Given the description of an element on the screen output the (x, y) to click on. 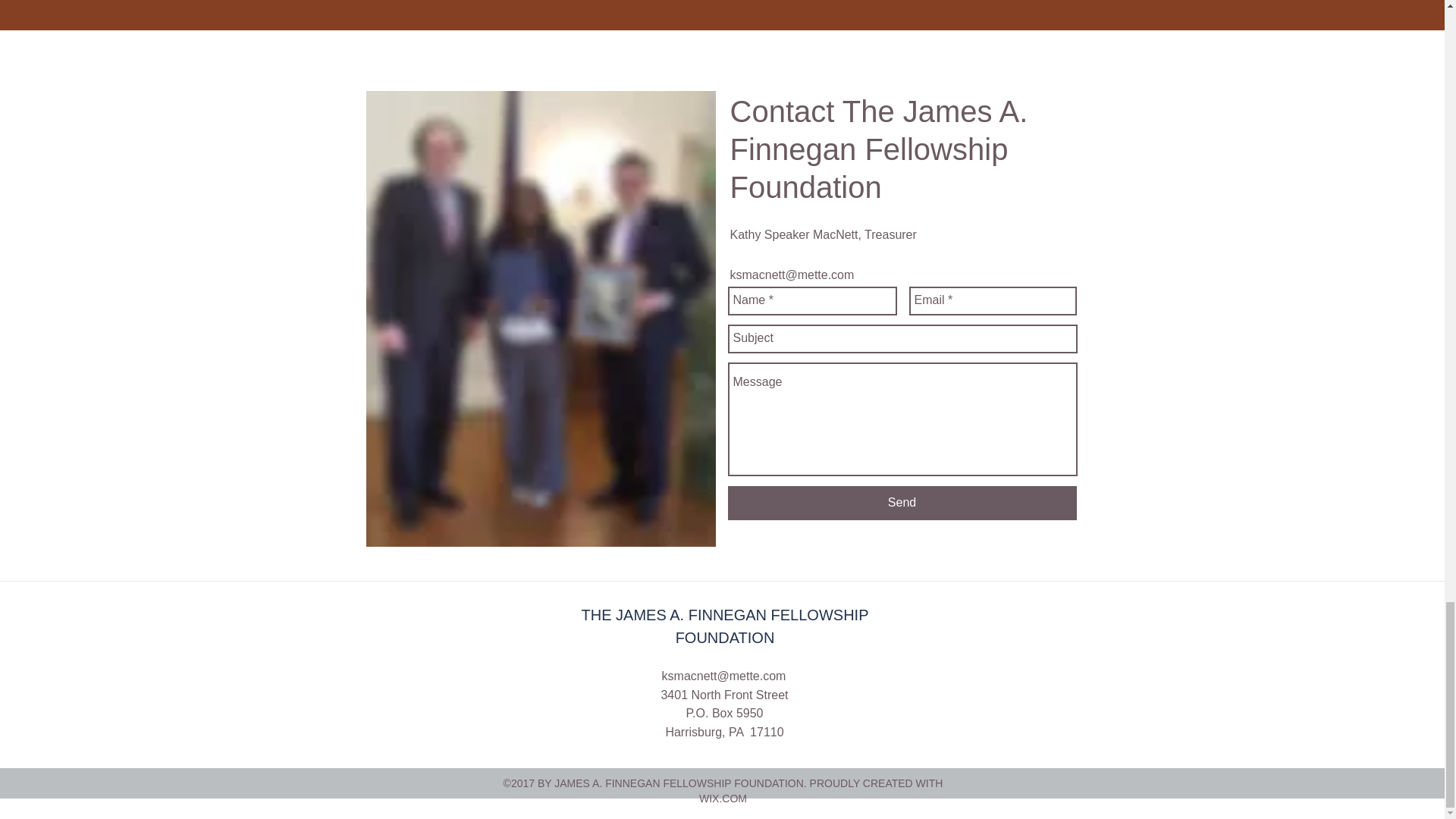
Send (902, 503)
